Given the description of an element on the screen output the (x, y) to click on. 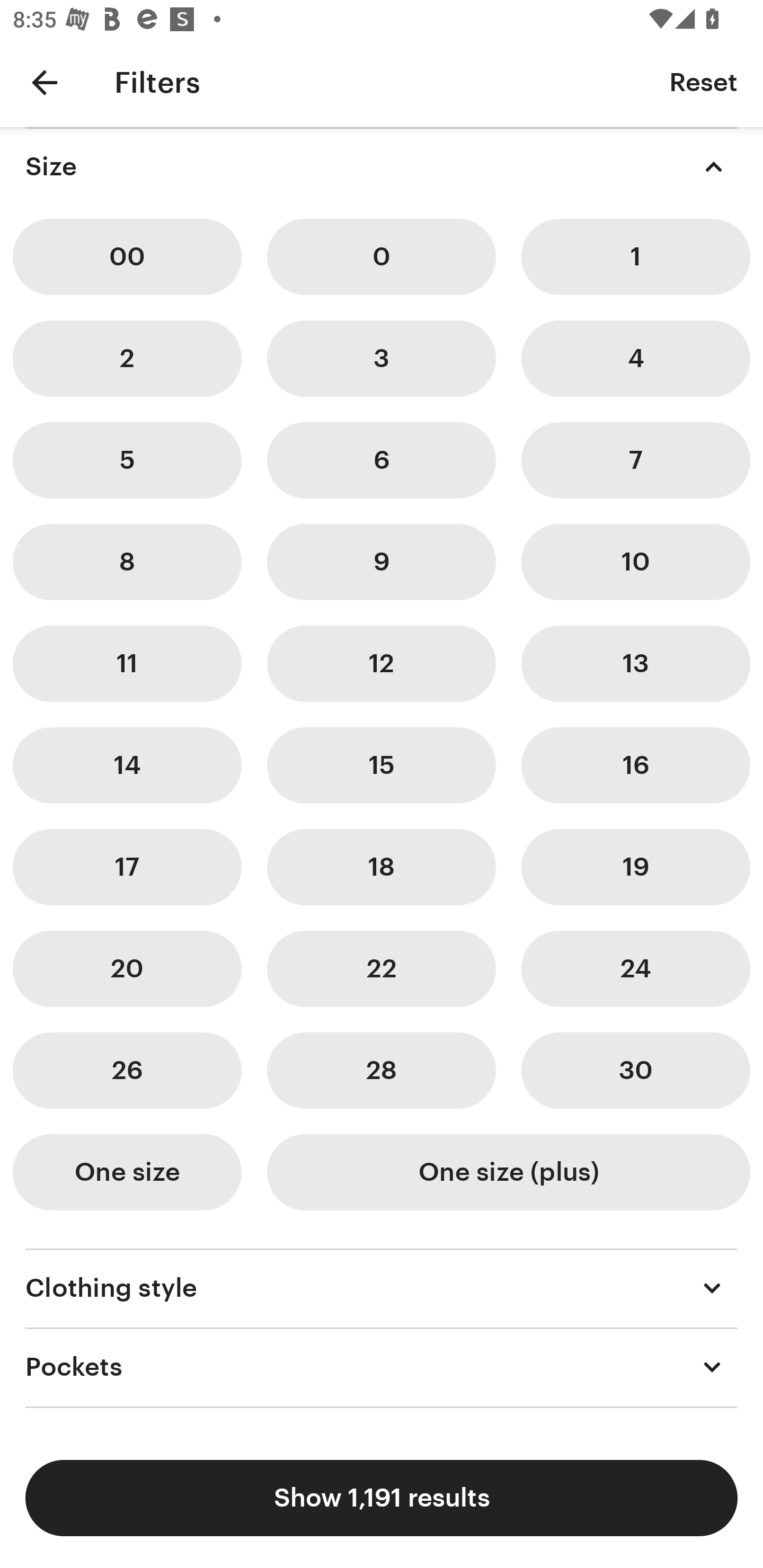
Navigate up (44, 82)
Reset (703, 81)
Size (381, 166)
00 (126, 256)
0 (381, 256)
1 (635, 256)
2 (126, 357)
3 (381, 357)
4 (635, 357)
5 (126, 459)
6 (381, 459)
7 (635, 459)
8 (126, 561)
9 (381, 561)
10 (635, 561)
11 (126, 663)
12 (381, 663)
13 (635, 663)
14 (126, 764)
15 (381, 764)
16 (635, 764)
17 (126, 866)
18 (381, 866)
19 (635, 866)
20 (126, 968)
22 (381, 968)
24 (635, 968)
26 (126, 1069)
28 (381, 1069)
30 (635, 1069)
One size (126, 1171)
One size (plus) (508, 1171)
Clothing style (381, 1288)
Pockets (381, 1367)
Show 1,191 results (381, 1497)
